Given the description of an element on the screen output the (x, y) to click on. 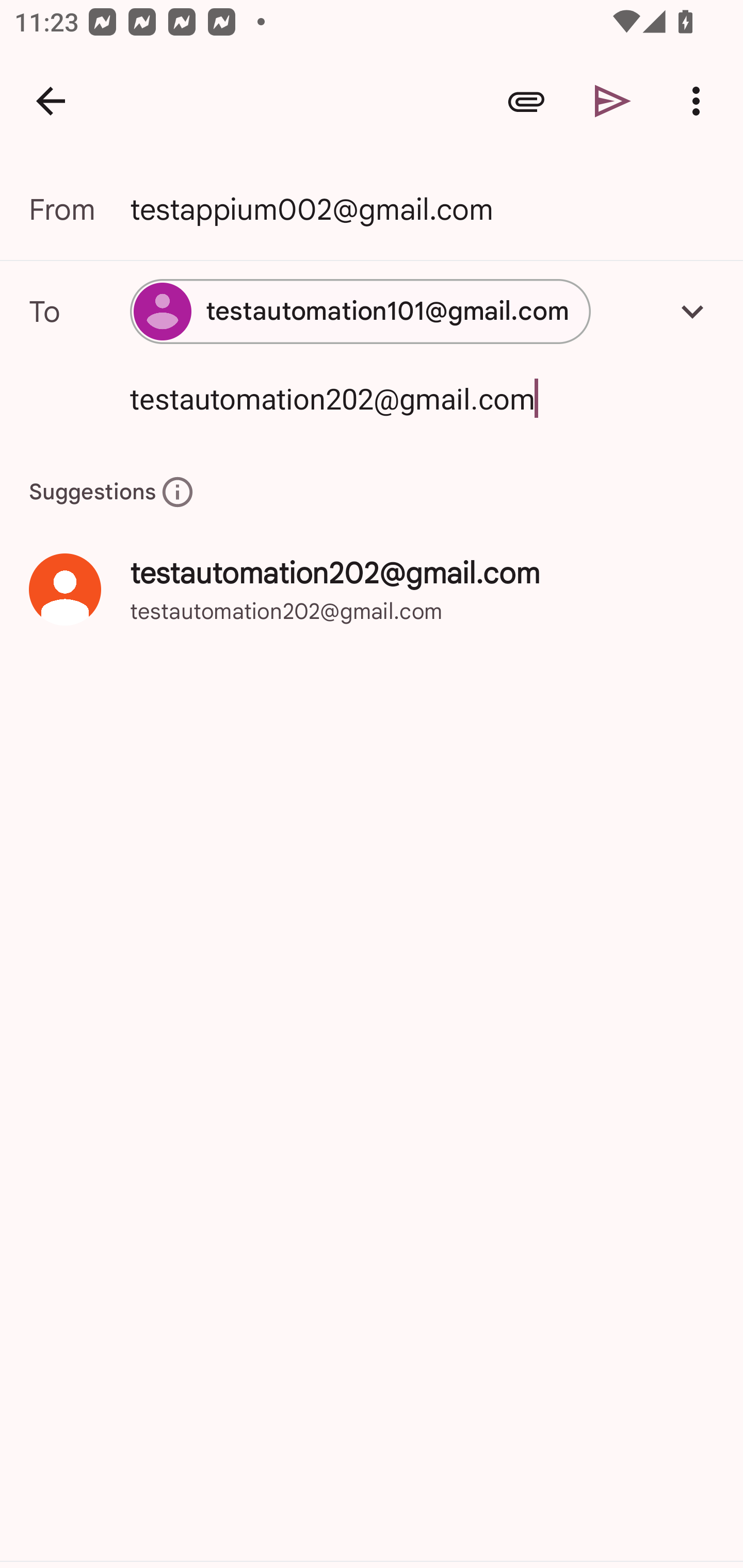
Navigate up (50, 101)
Attach file (525, 101)
Send (612, 101)
More options (699, 101)
From (79, 209)
Add Cc/Bcc (692, 311)
testautomation202@gmail.com (393, 398)
How suggestions work (177, 491)
